Given the description of an element on the screen output the (x, y) to click on. 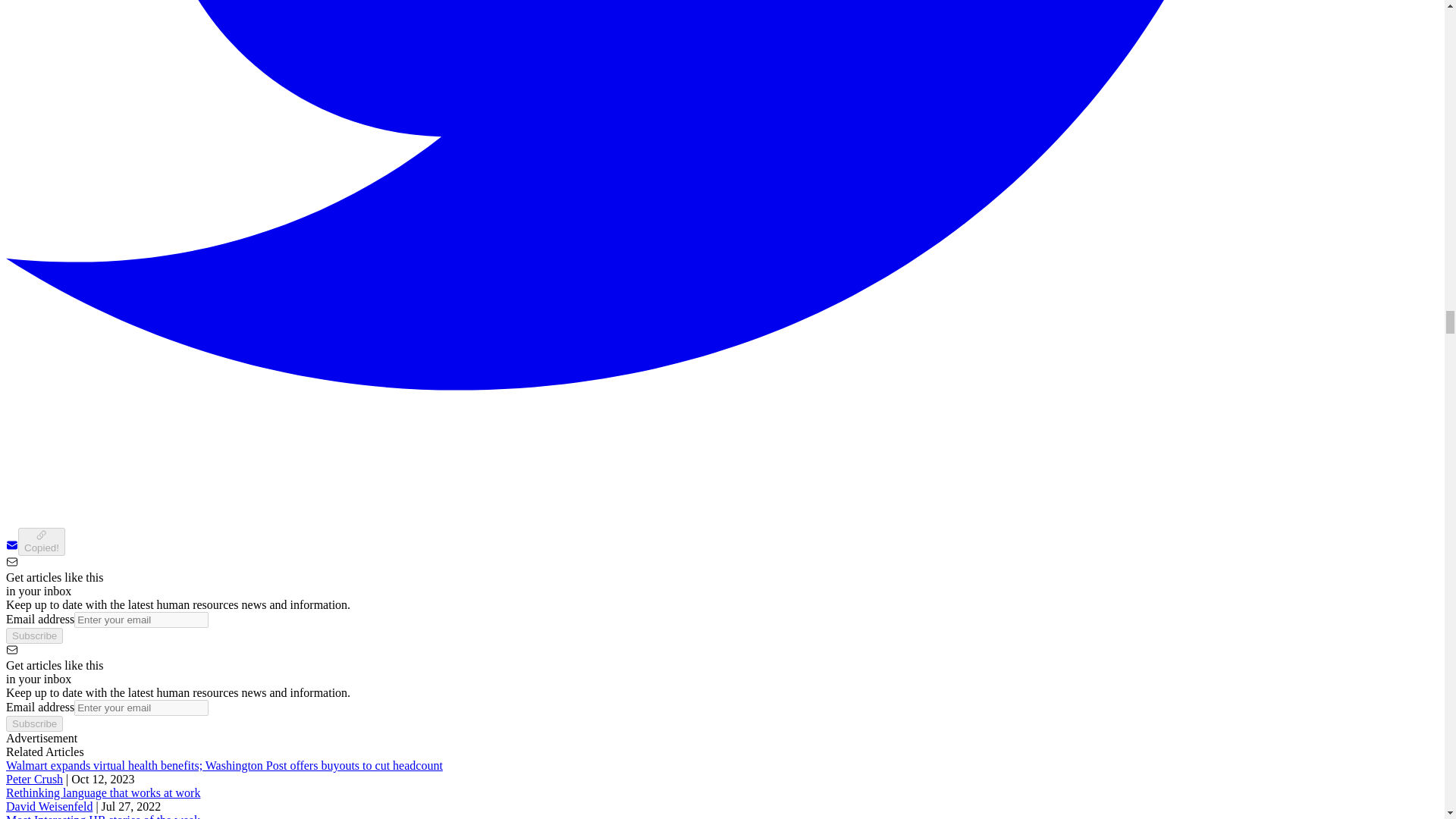
Rethinking language that works at work (102, 792)
Subscribe (33, 635)
David Weisenfeld (49, 806)
Copied! (41, 541)
Peter Crush (33, 779)
Most Interesting HR stories of the week (102, 816)
Subscribe (33, 723)
